Given the description of an element on the screen output the (x, y) to click on. 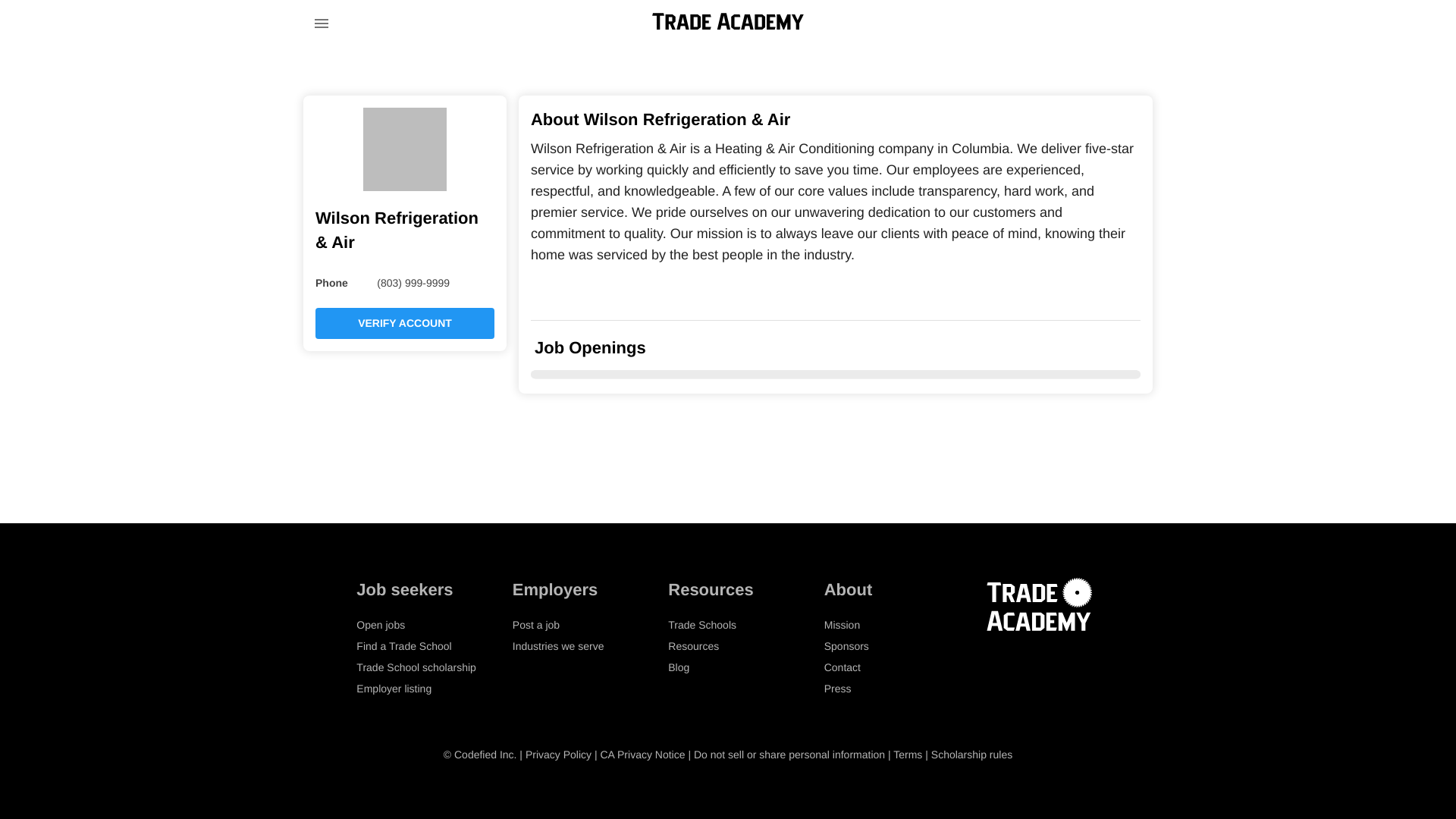
Blog (678, 666)
CA Privacy Notice (641, 754)
Employer listing (393, 688)
Find a Trade School (403, 645)
Do not sell or share personal information (789, 754)
Trade Schools (702, 624)
Scholarship rules (971, 754)
Post a job (535, 624)
Industries we serve (558, 645)
Mission (842, 624)
